Given the description of an element on the screen output the (x, y) to click on. 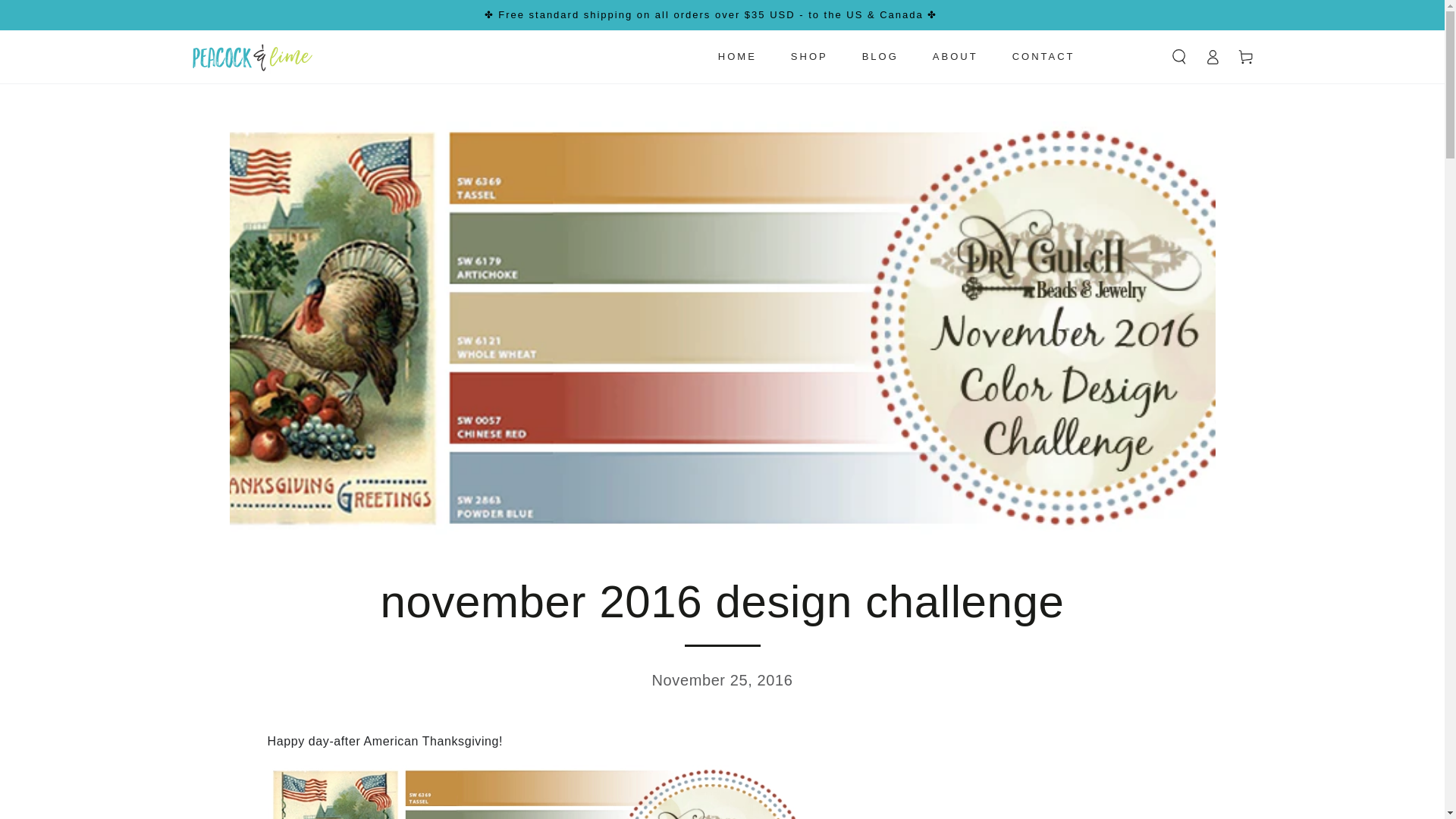
HOME (737, 56)
SKIP TO CONTENT (67, 14)
